Given the description of an element on the screen output the (x, y) to click on. 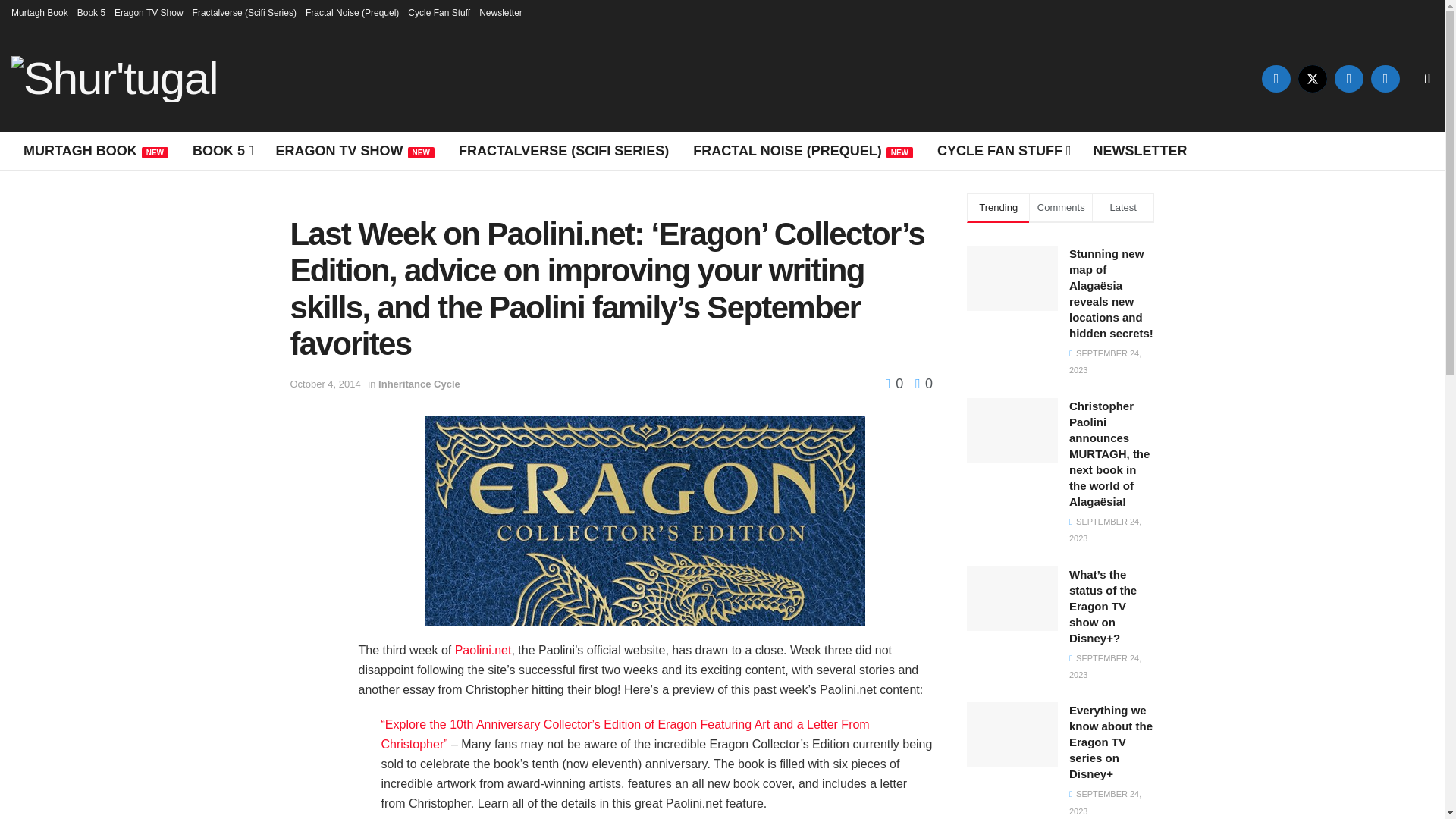
Eragon TV Show (149, 12)
BOOK 5 (221, 150)
Cycle Fan Stuff (438, 12)
Newsletter (500, 12)
Murtagh Book (39, 12)
Book 5 (90, 12)
ERAGON TV SHOWNEW (354, 150)
MURTAGH BOOKNEW (95, 150)
CYCLE FAN STUFF (1002, 150)
